Given the description of an element on the screen output the (x, y) to click on. 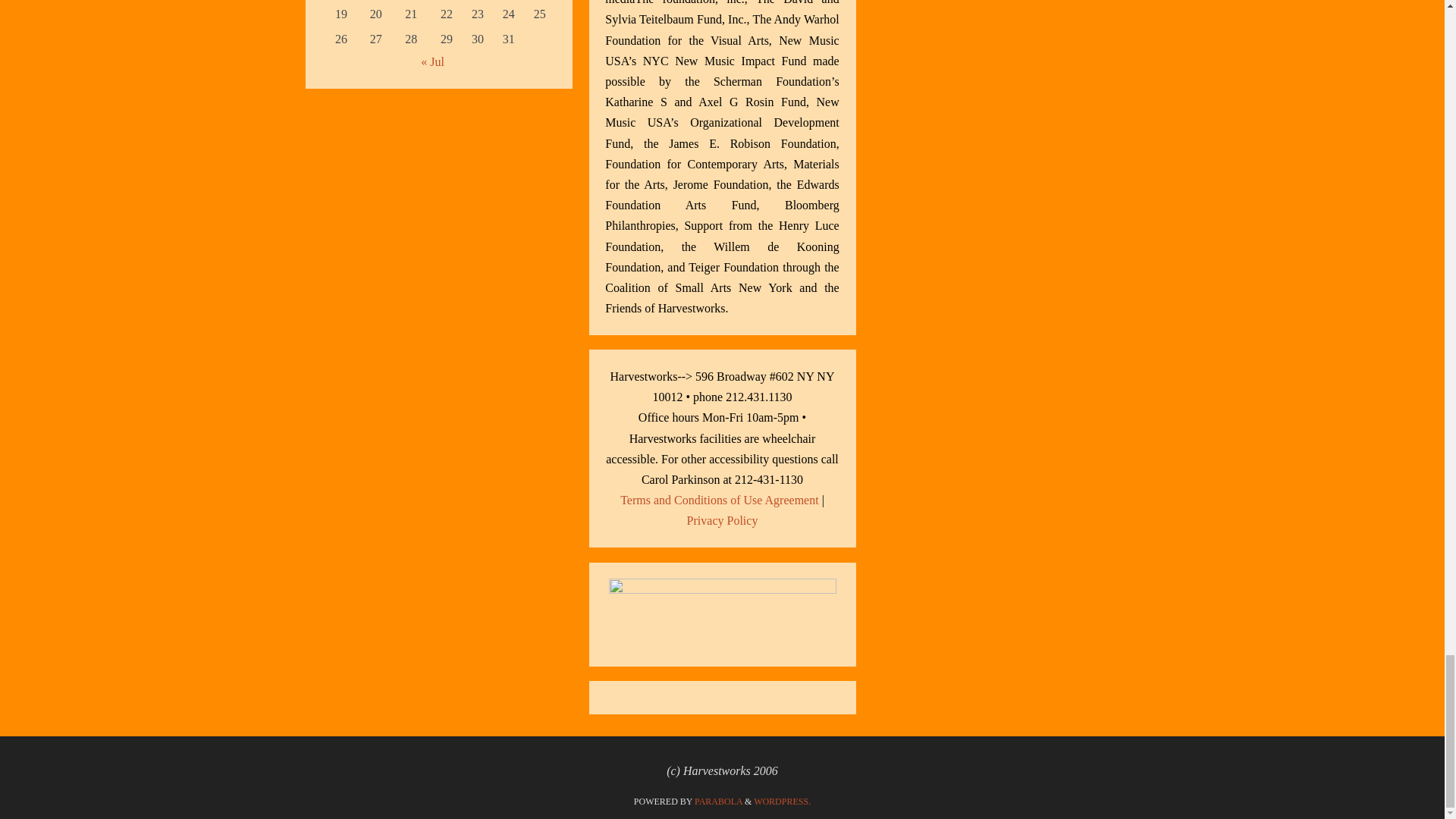
Terms Of Use (719, 499)
